Given the description of an element on the screen output the (x, y) to click on. 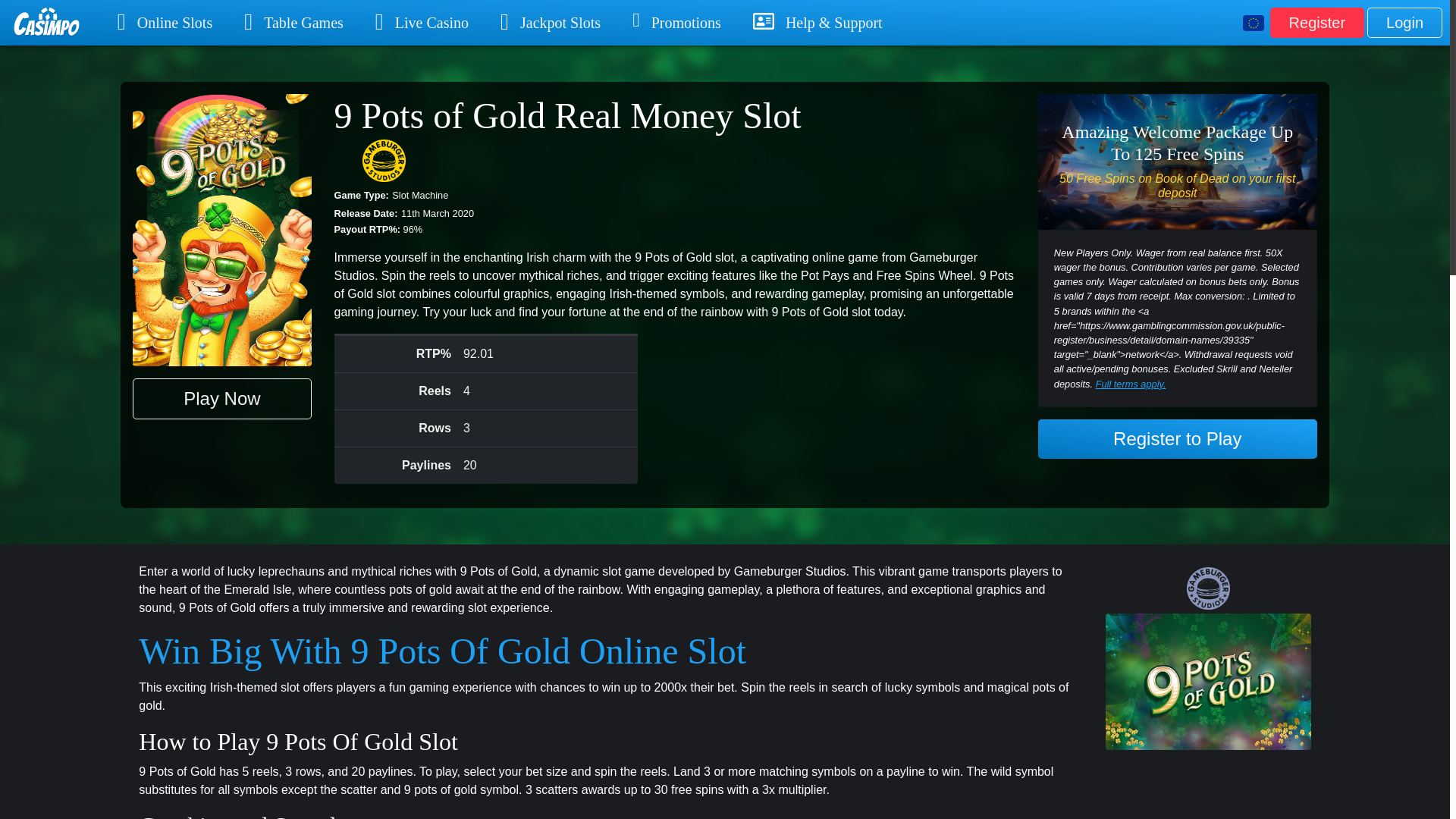
Table Games (293, 22)
Register to Play (1177, 438)
Register (1316, 22)
Live Casino (421, 22)
Online Slots (164, 22)
9 Pots of Gold (221, 230)
Jackpot Slots (549, 22)
Gameburger Studios 9 Pots of Gold (383, 160)
Promotions (676, 22)
Gameburger Studios 9 Pots of Gold (1208, 587)
Full terms apply. (1131, 383)
Unregulated Regions (1253, 23)
Play Now (221, 398)
Login (1404, 22)
9 Pots of Gold Slot Logo (1208, 681)
